Given the description of an element on the screen output the (x, y) to click on. 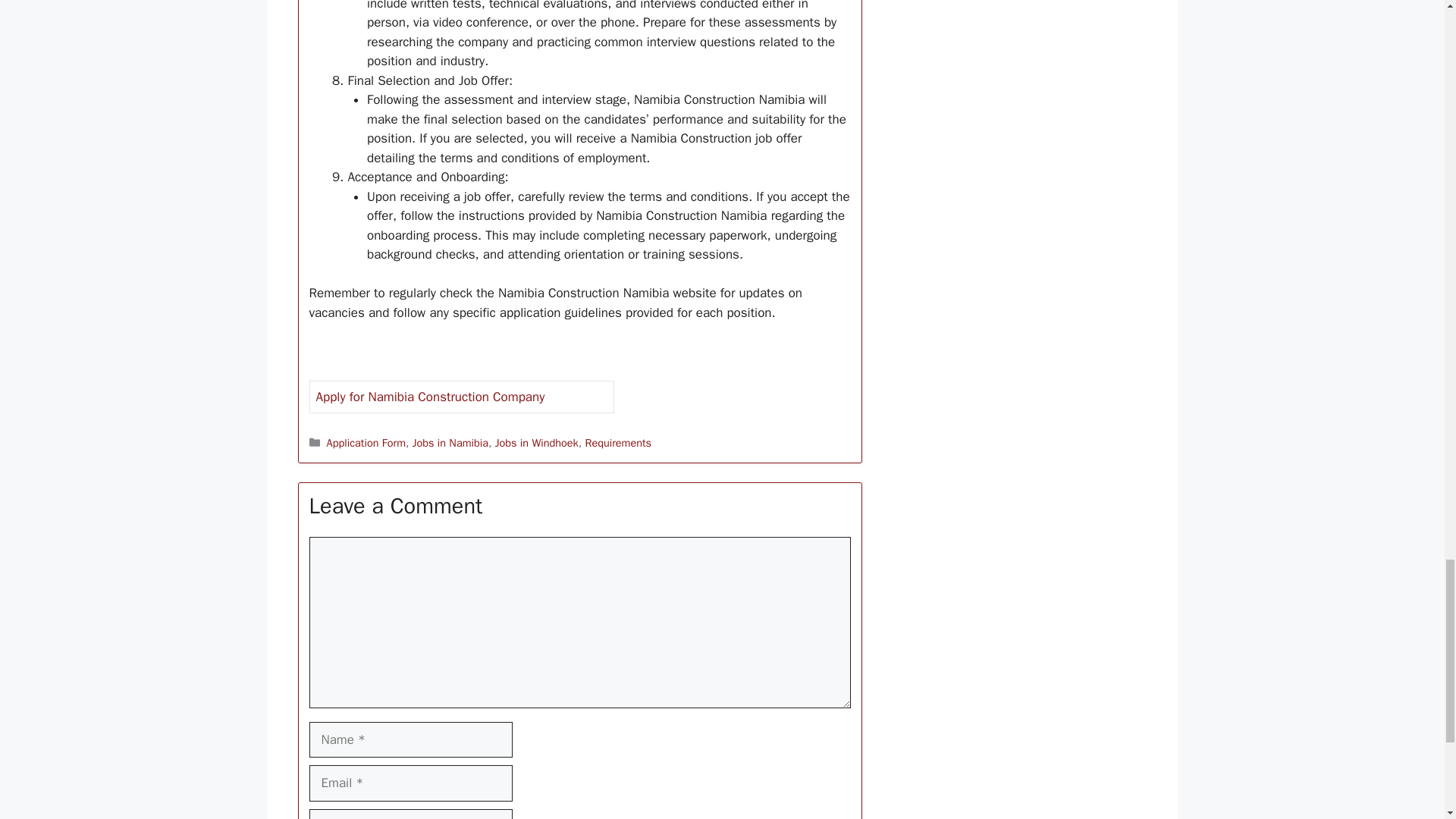
Application Form (366, 442)
Requirements (617, 442)
Jobs in Namibia (449, 442)
Jobs in Windhoek (536, 442)
Apply for Namibia Construction Company (429, 396)
